Given the description of an element on the screen output the (x, y) to click on. 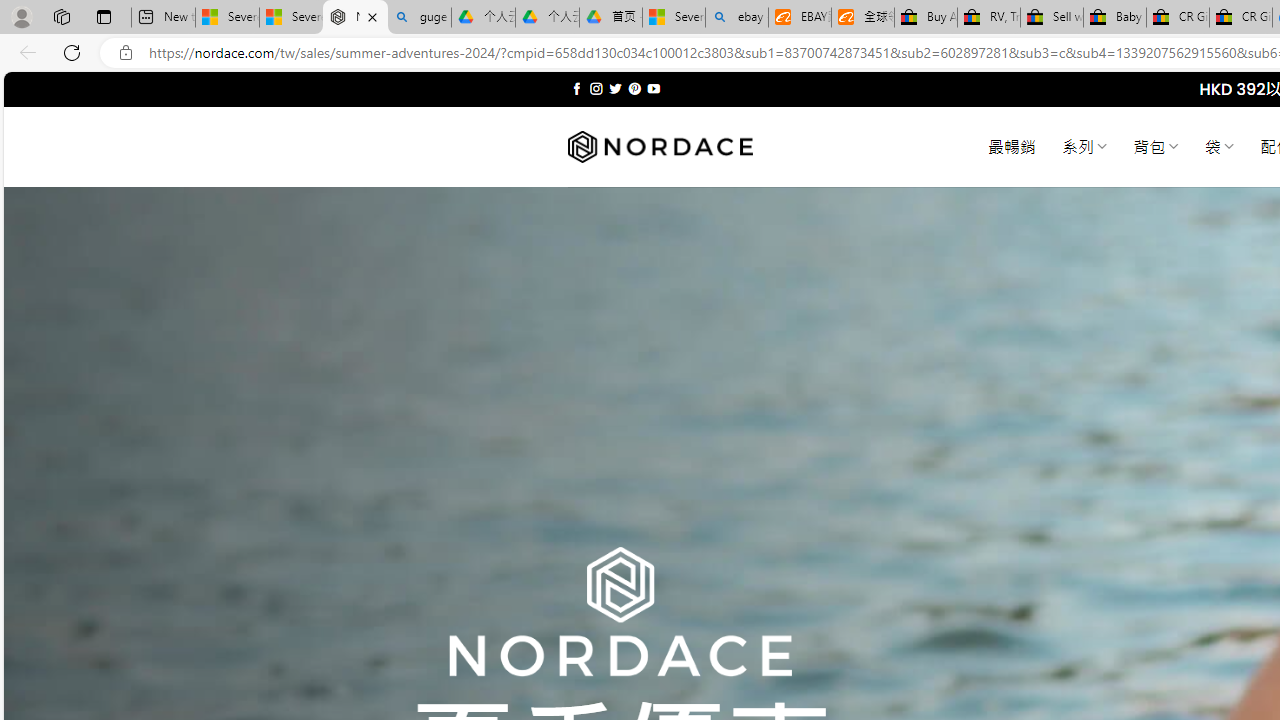
ebay - Search (736, 17)
Back (24, 52)
RV, Trailer & Camper Steps & Ladders for sale | eBay (988, 17)
Buy Auto Parts & Accessories | eBay (925, 17)
Follow on Pinterest (634, 88)
Follow on Facebook (576, 88)
Personal Profile (21, 16)
Workspaces (61, 16)
